Given the description of an element on the screen output the (x, y) to click on. 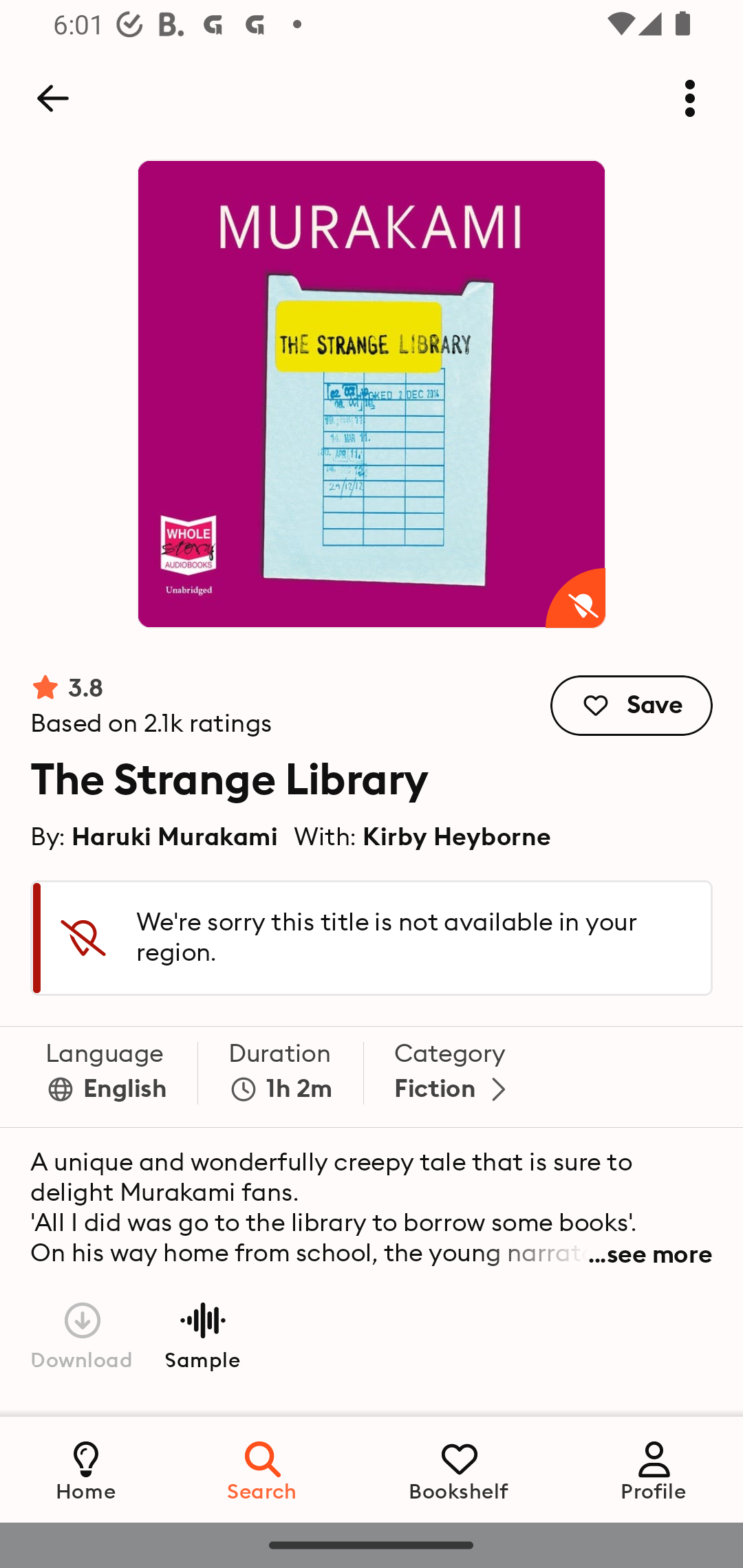
Back (52, 98)
More options (689, 98)
Rating 3.8 stars, out of 2063 ratings (151, 705)
Save Save to bookshelf (631, 705)
By: Haruki Murakami (154, 835)
With: Kirby Heyborne (422, 835)
Category Fiction (454, 1077)
Play sample (202, 1333)
Home (85, 1468)
Search (262, 1468)
Bookshelf (458, 1468)
Profile (653, 1468)
